Given the description of an element on the screen output the (x, y) to click on. 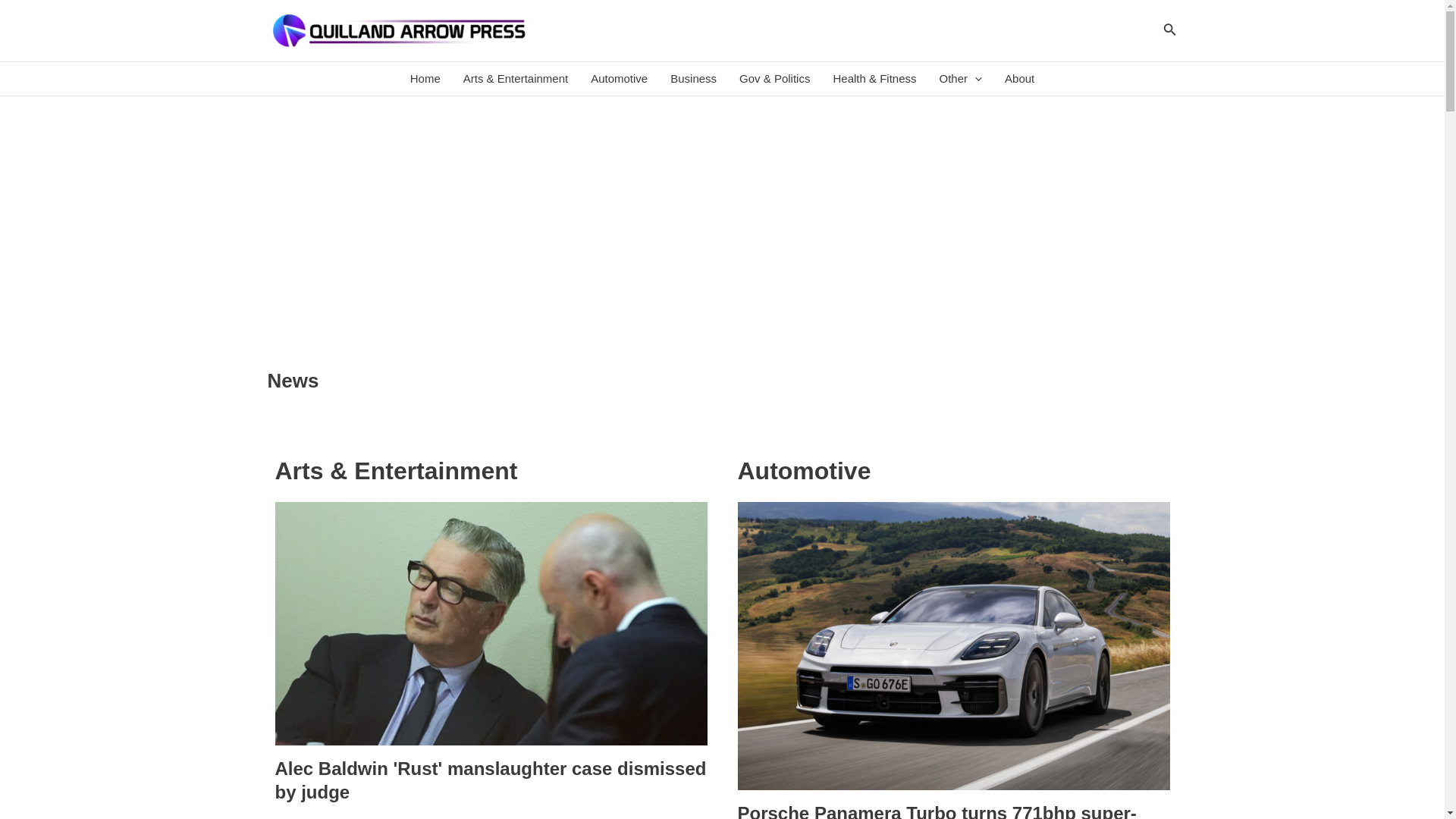
Business (693, 78)
Other (961, 78)
Automotive (619, 78)
Home (424, 78)
About (1018, 78)
